Given the description of an element on the screen output the (x, y) to click on. 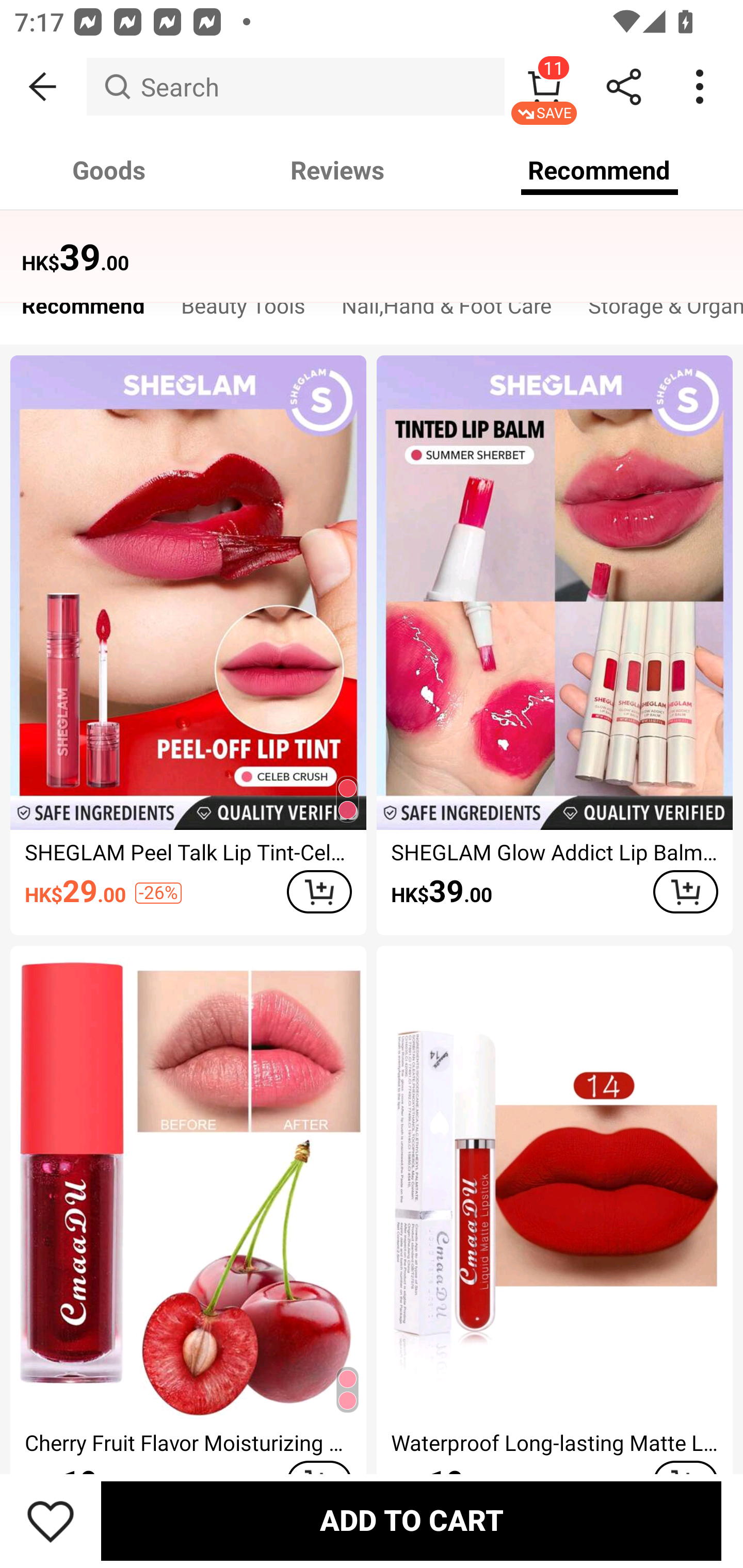
BACK (43, 86)
11 SAVE (543, 87)
Search (295, 87)
Goods (109, 170)
Reviews (337, 170)
Recommend (599, 170)
You May Also Like (371, 244)
Recommend (82, 310)
Beauty Tools (242, 310)
Nail,Hand & Foot Care (446, 310)
Storage & Organization (656, 310)
ADD TO CART (319, 892)
ADD TO CART (685, 892)
ADD TO CART (411, 1520)
Save (50, 1520)
